Given the description of an element on the screen output the (x, y) to click on. 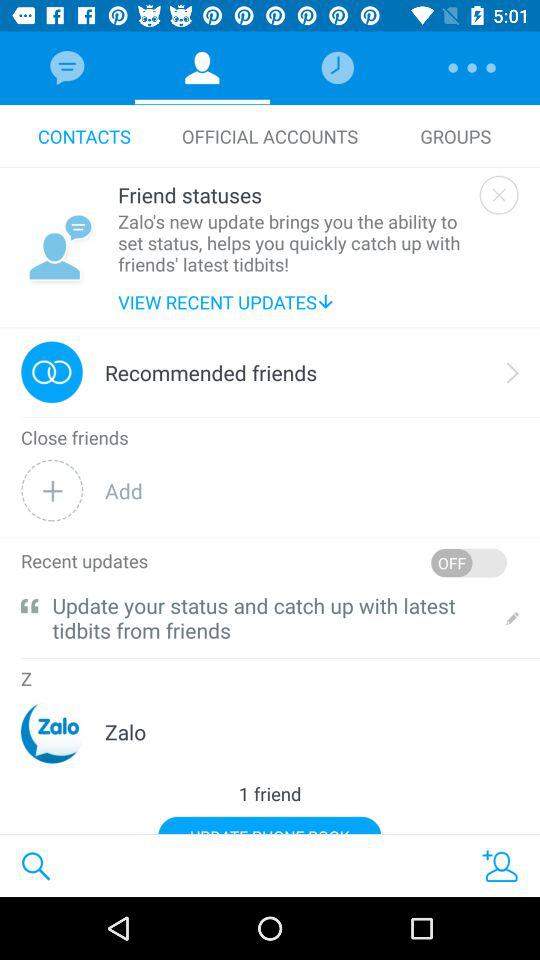
flip until contacts icon (84, 136)
